Given the description of an element on the screen output the (x, y) to click on. 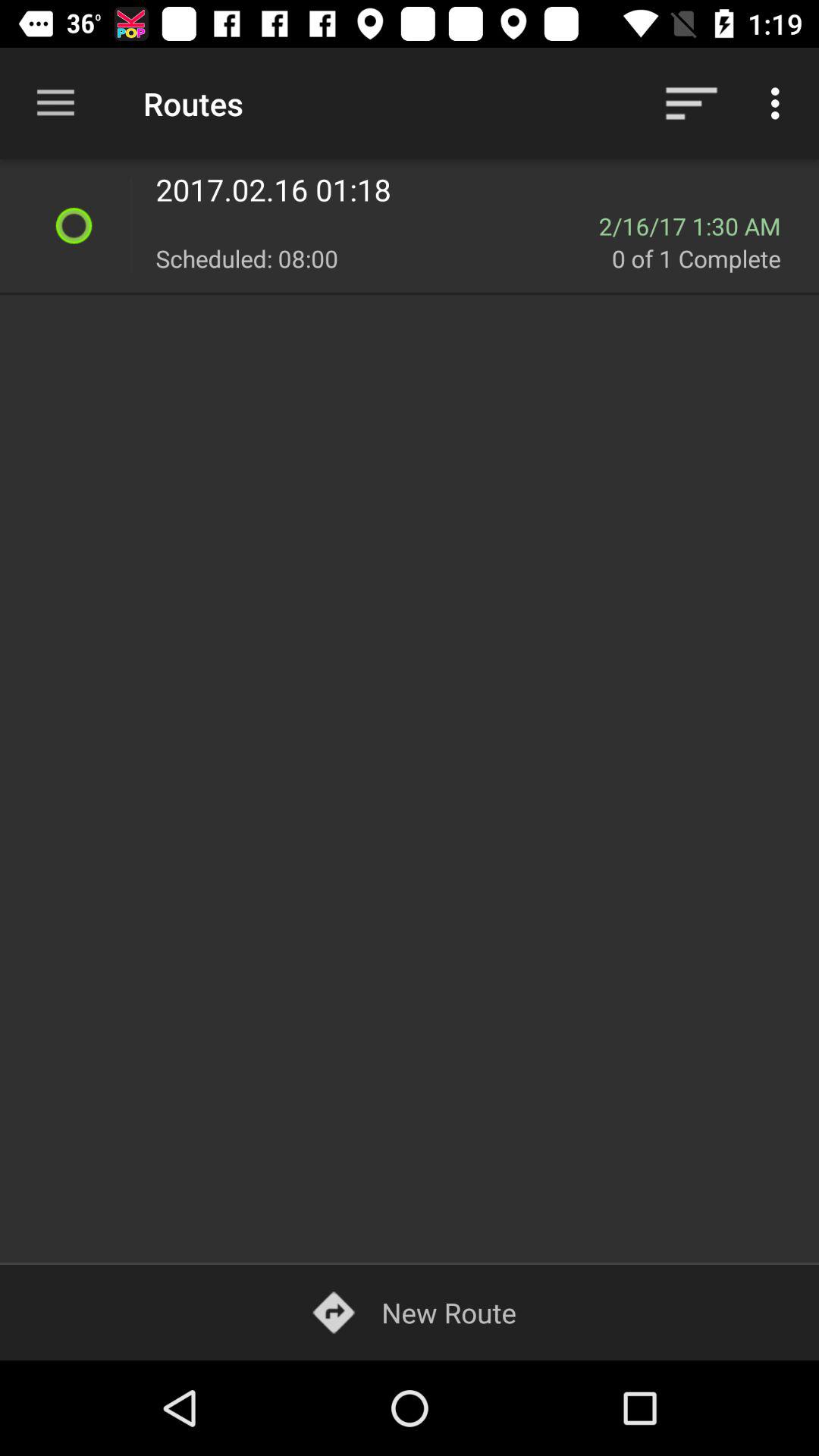
scroll until 2017 02 16 icon (477, 189)
